Given the description of an element on the screen output the (x, y) to click on. 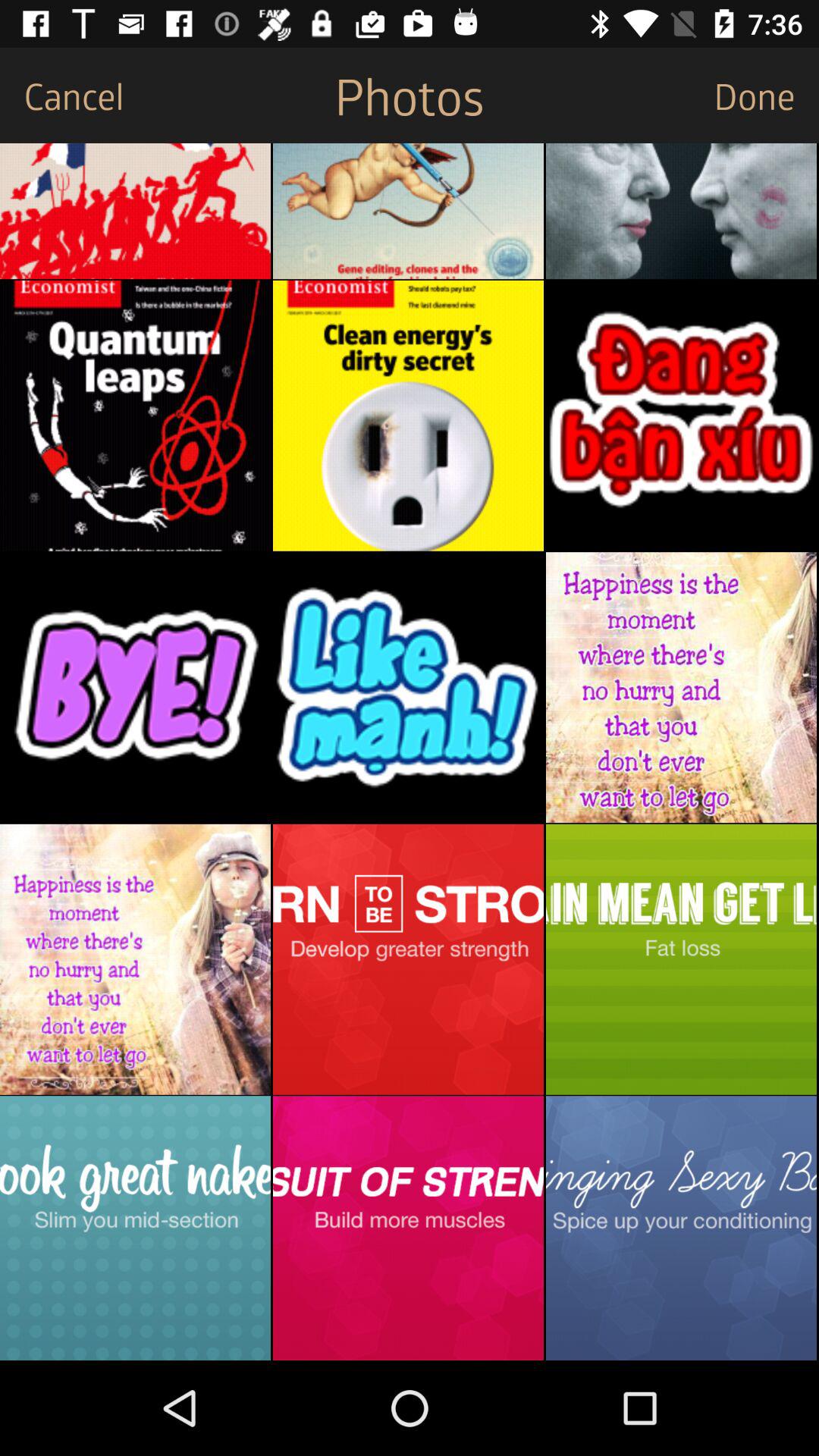
see options for slimming mid-section (135, 1227)
